Given the description of an element on the screen output the (x, y) to click on. 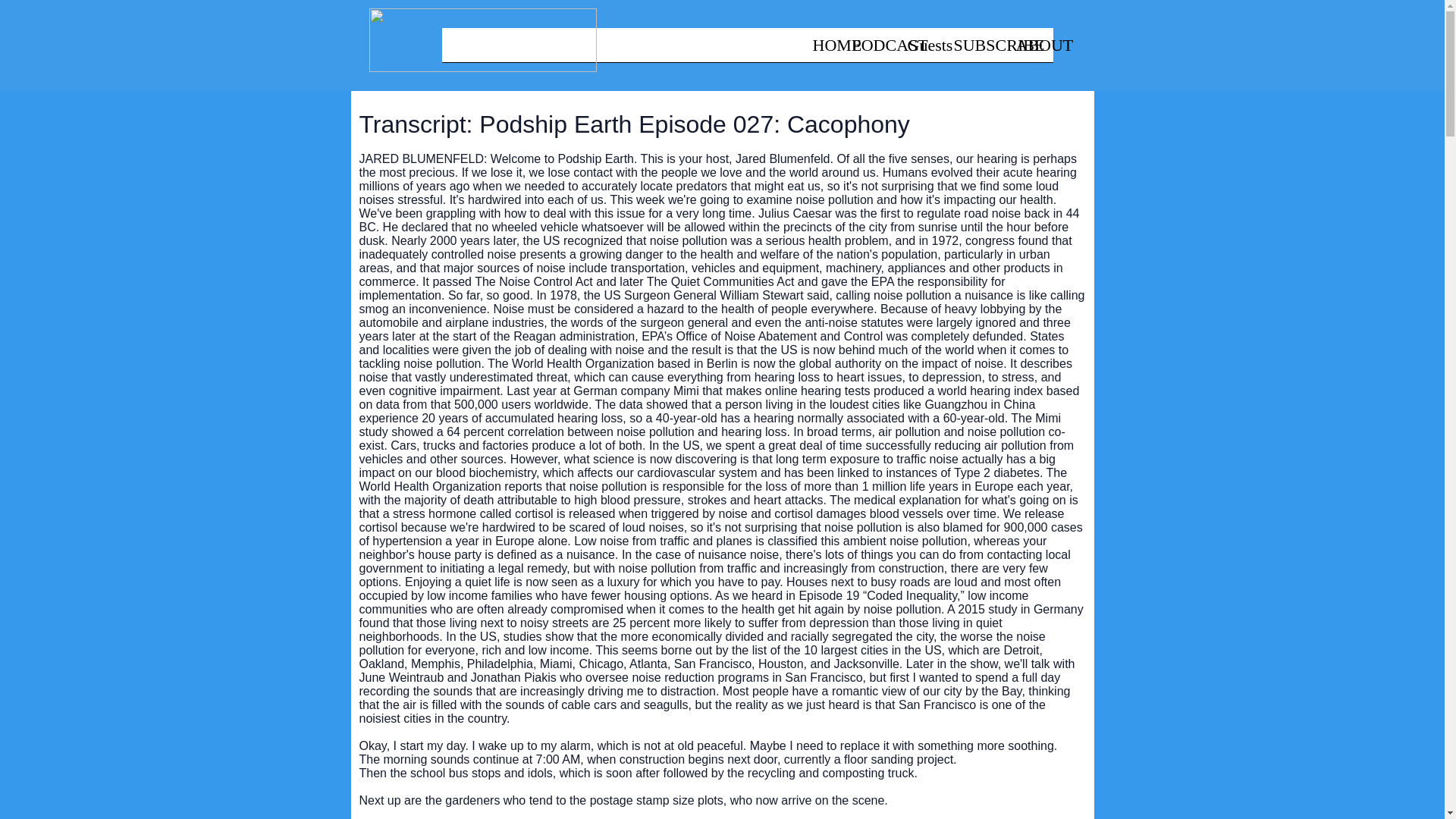
HOME (823, 49)
PODCAST (870, 49)
